Given the description of an element on the screen output the (x, y) to click on. 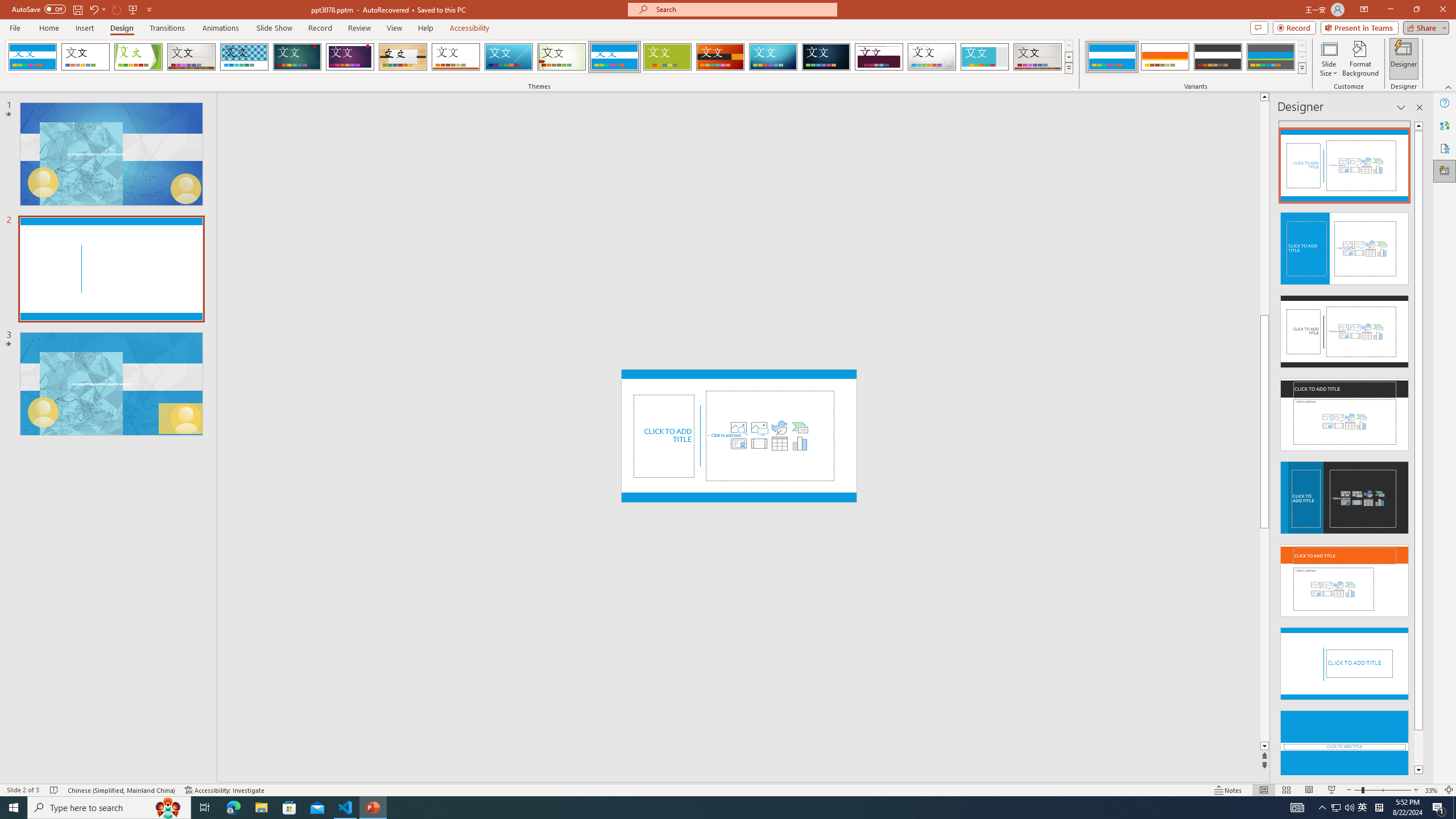
Basis (667, 56)
Droplet (931, 56)
Slice (508, 56)
Retrospect (455, 56)
